Given the description of an element on the screen output the (x, y) to click on. 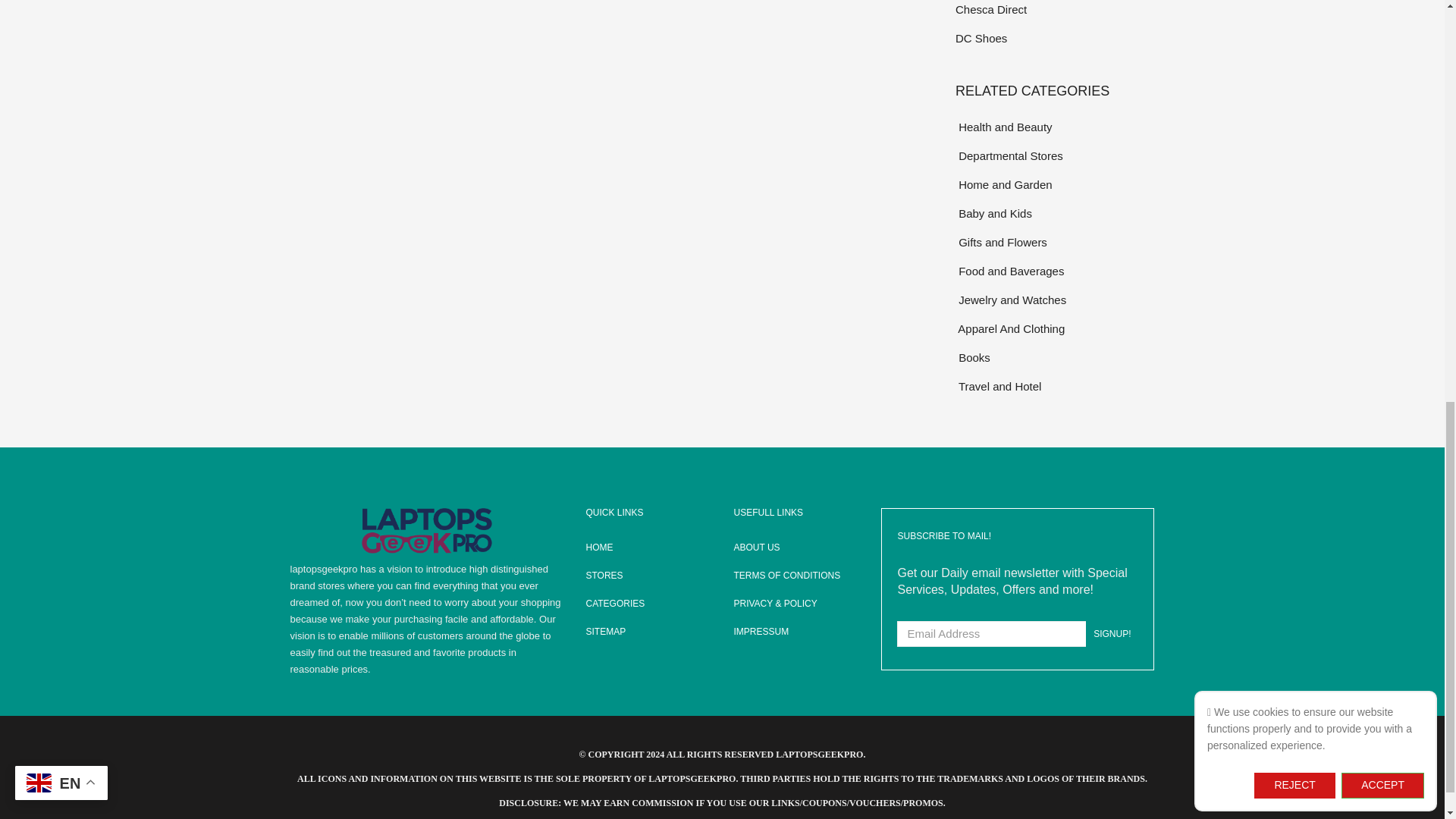
Chesca Direct (1054, 9)
DC Shoes (1054, 37)
 Departmental Stores (1054, 155)
 Apparel And Clothing (1054, 328)
 Food and Baverages (1054, 270)
 Gifts and Flowers (1054, 241)
 Home and Garden (1054, 184)
 Baby and Kids (1054, 212)
 Travel and Hotel (1054, 385)
 Jewelry and Watches (1054, 299)
 Health and Beauty (1054, 126)
 Books (1054, 357)
